Given the description of an element on the screen output the (x, y) to click on. 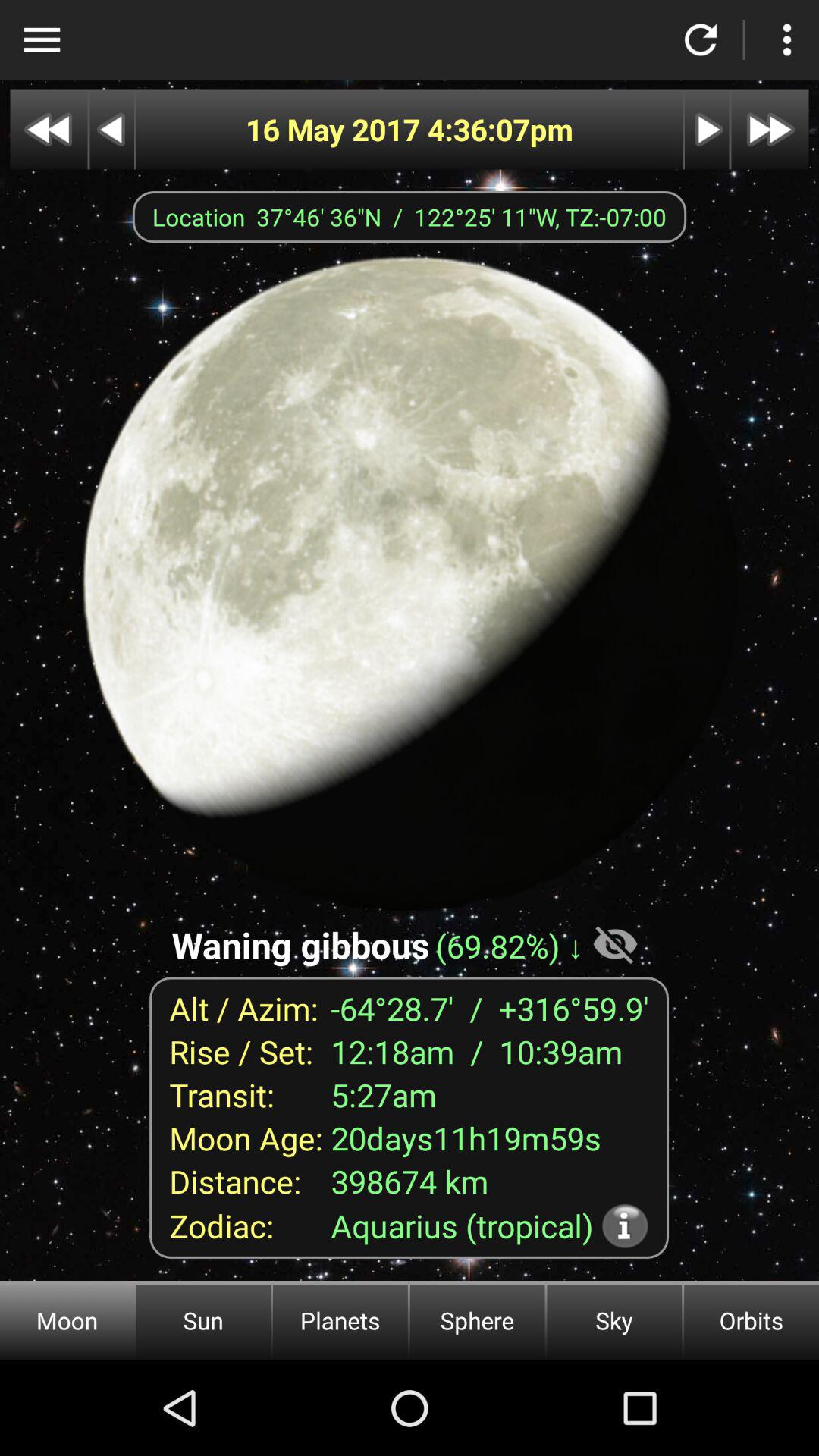
toggles a fast forward option (769, 129)
